Given the description of an element on the screen output the (x, y) to click on. 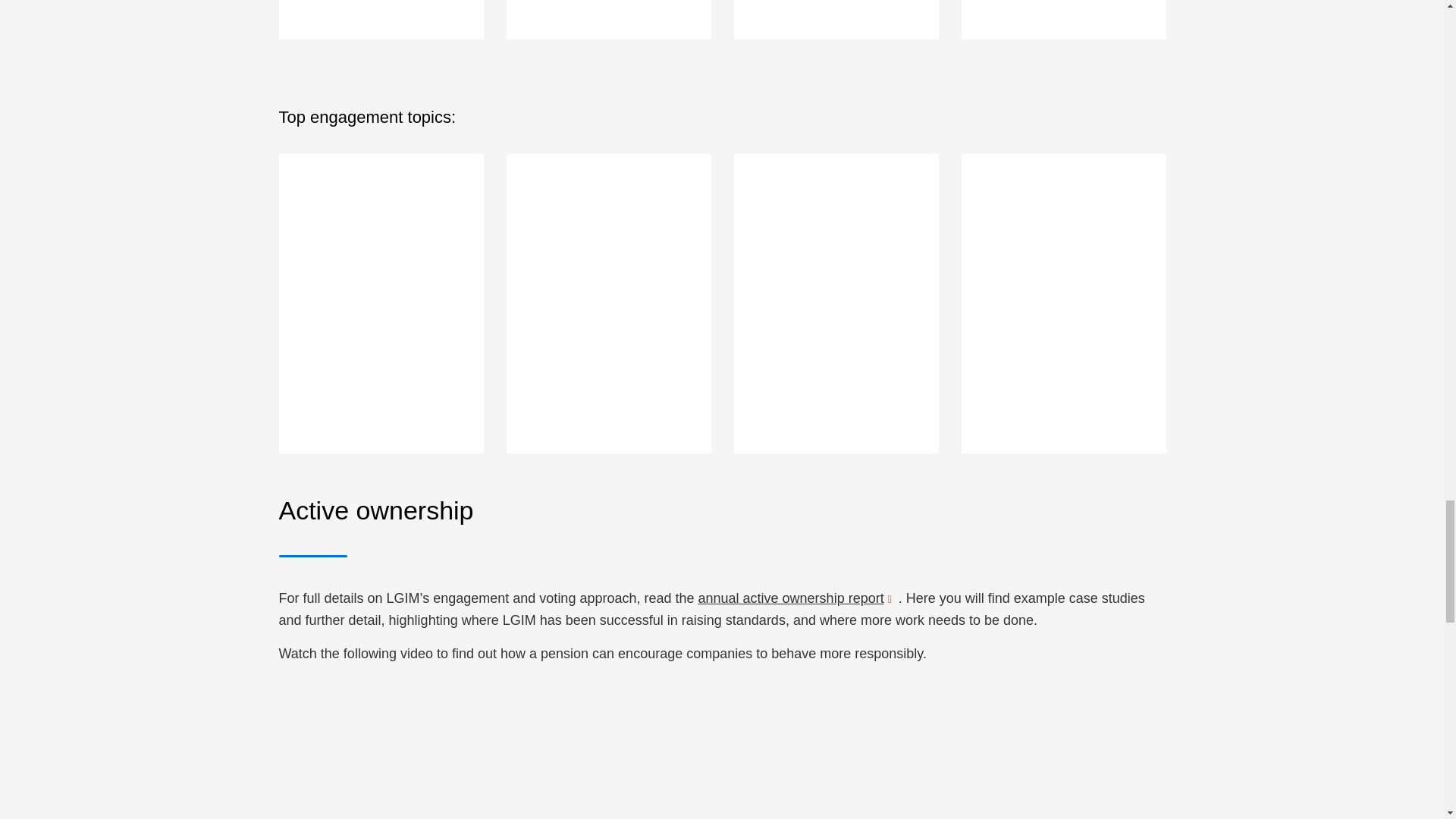
annual active ownership report (798, 598)
